Given the description of an element on the screen output the (x, y) to click on. 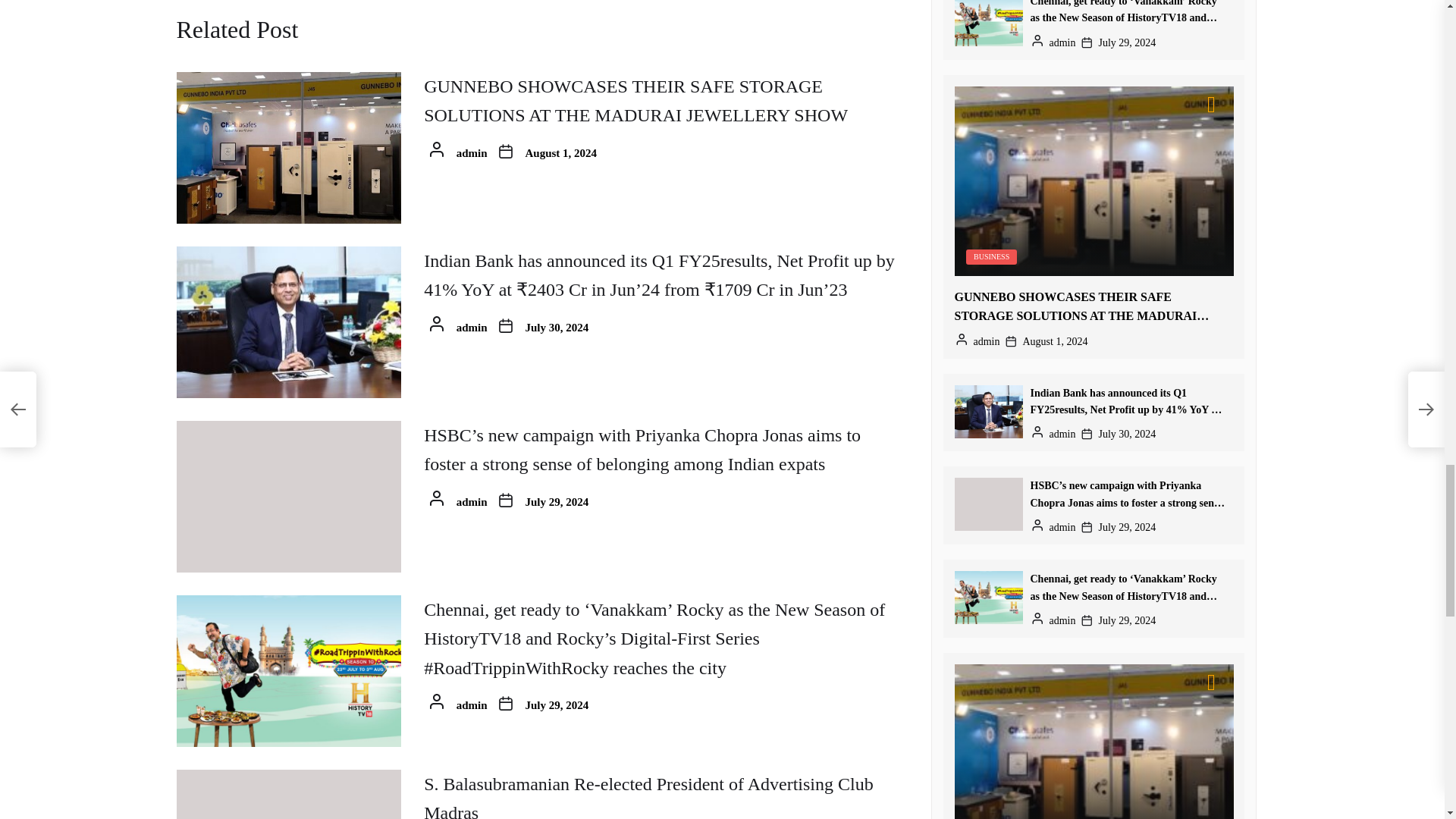
admin (472, 152)
admin (472, 327)
admin (472, 501)
July 29, 2024 (557, 501)
July 30, 2024 (557, 327)
August 1, 2024 (560, 152)
